Given the description of an element on the screen output the (x, y) to click on. 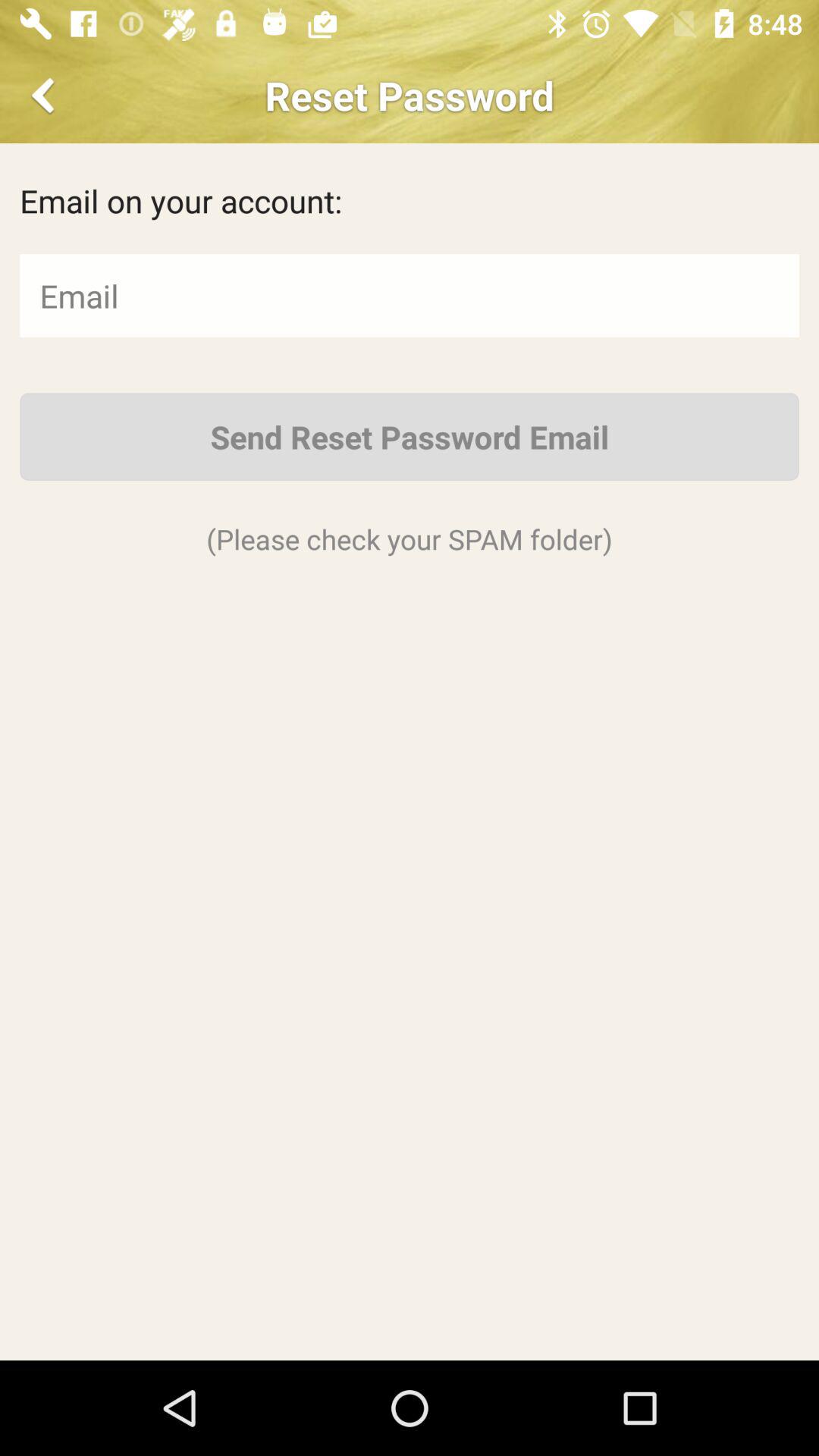
open icon at the top left corner (45, 95)
